Given the description of an element on the screen output the (x, y) to click on. 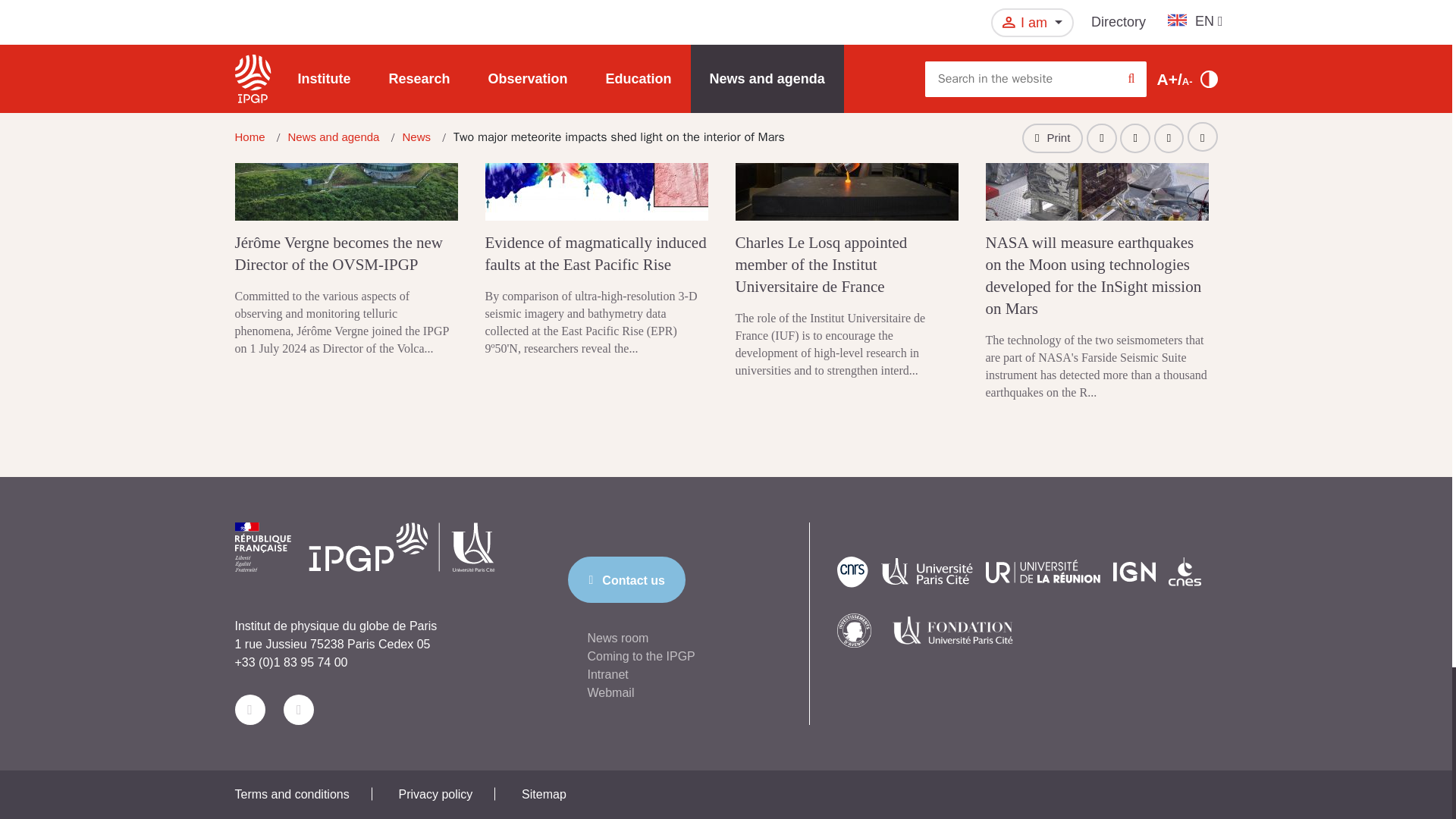
Follow us on Twitter (249, 709)
Institut de Physique du Globe de Paris (364, 560)
Follow us on Youtube (298, 709)
